Given the description of an element on the screen output the (x, y) to click on. 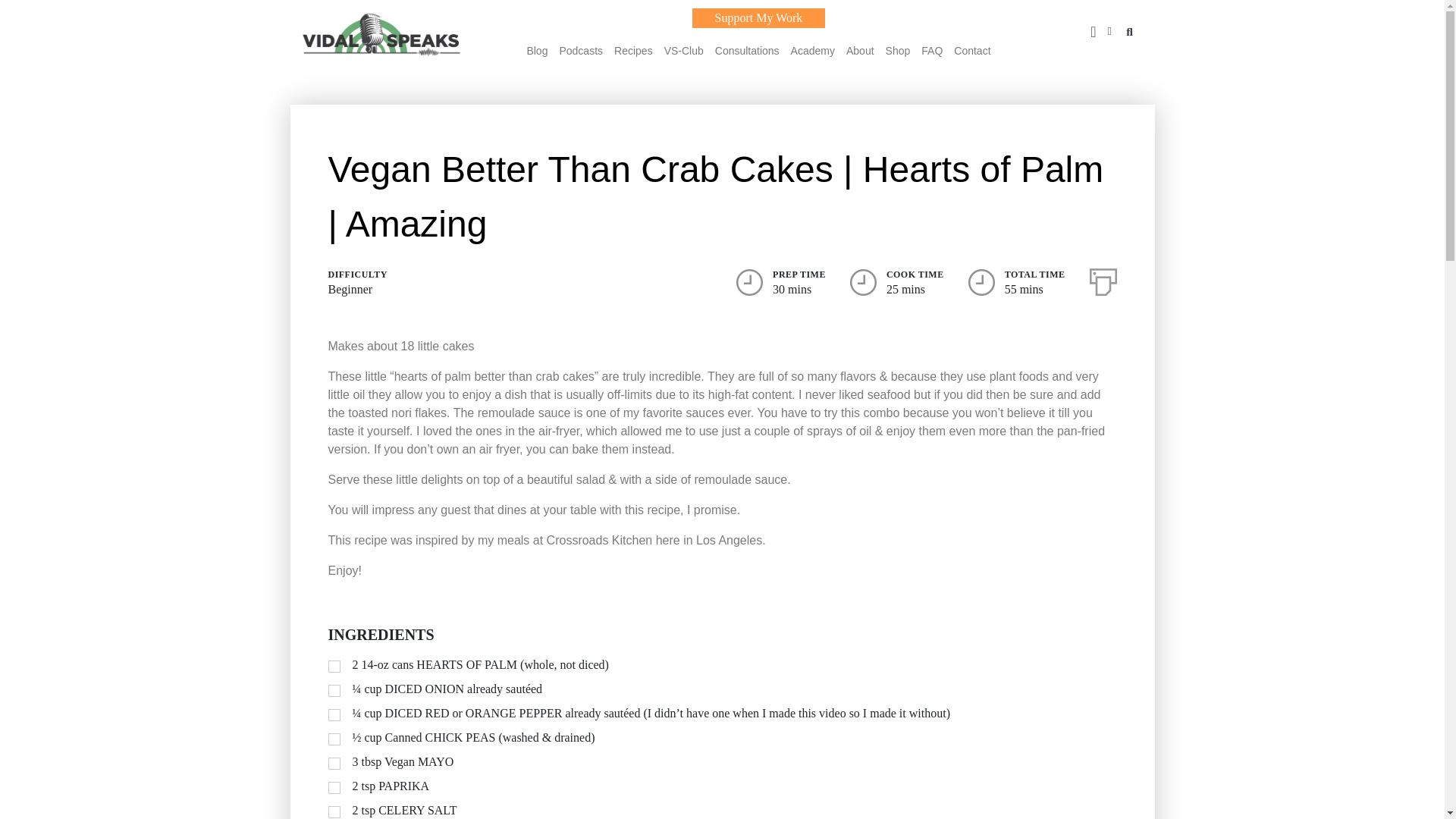
VS-Club (683, 50)
Support My Work (759, 17)
Podcasts (580, 50)
Academy (812, 50)
Blog (536, 50)
Contact (971, 50)
About (860, 50)
Consultations (746, 50)
FAQ (931, 50)
Shop (898, 50)
